Given the description of an element on the screen output the (x, y) to click on. 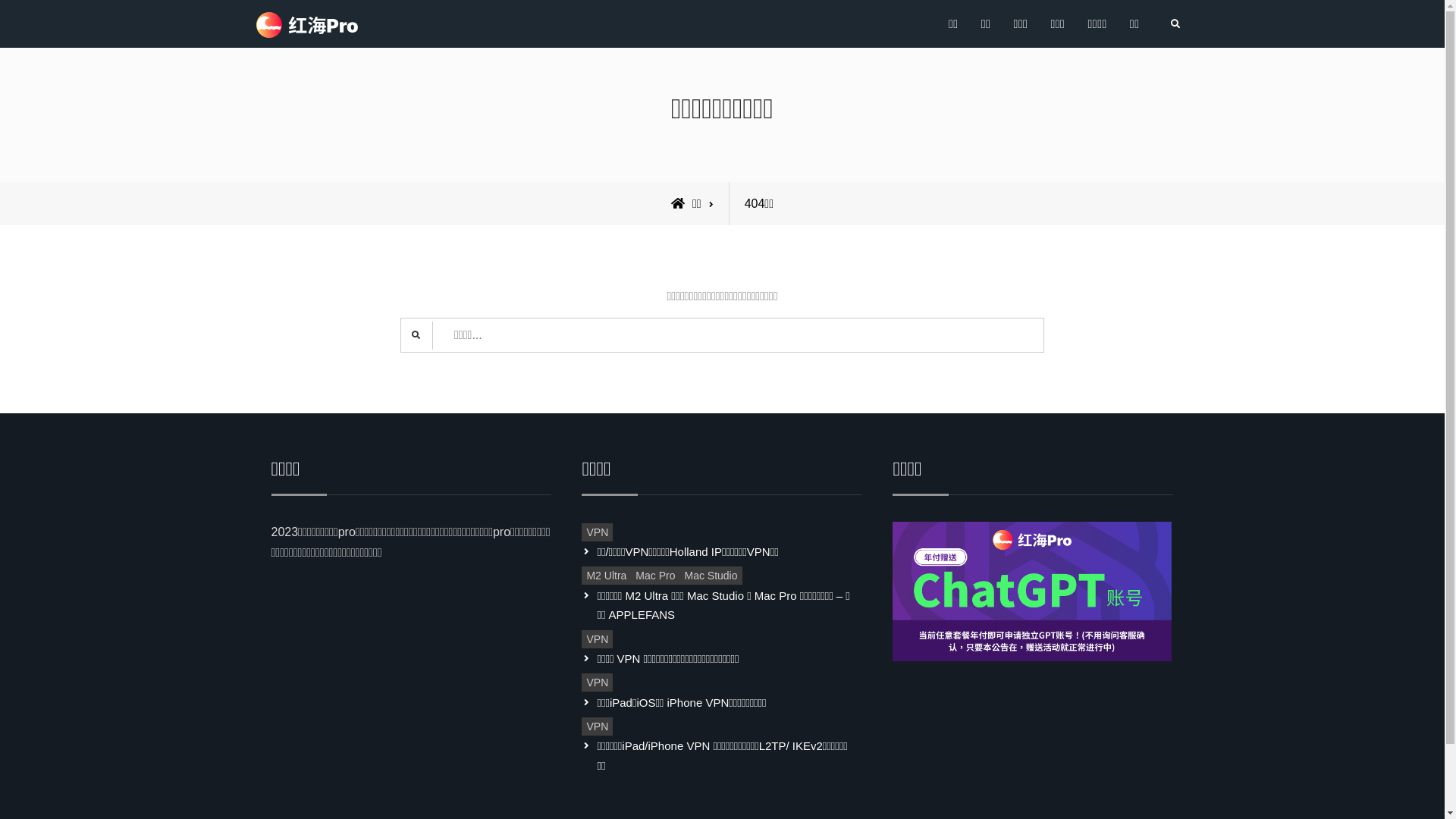
M2 Ultra Element type: text (605, 575)
VPN Element type: text (596, 682)
VPN Element type: text (596, 532)
Mac Studio Element type: text (710, 575)
Mac Pro Element type: text (654, 575)
VPN Element type: text (596, 726)
Search Element type: text (1174, 23)
VPN Element type: text (596, 639)
